Given the description of an element on the screen output the (x, y) to click on. 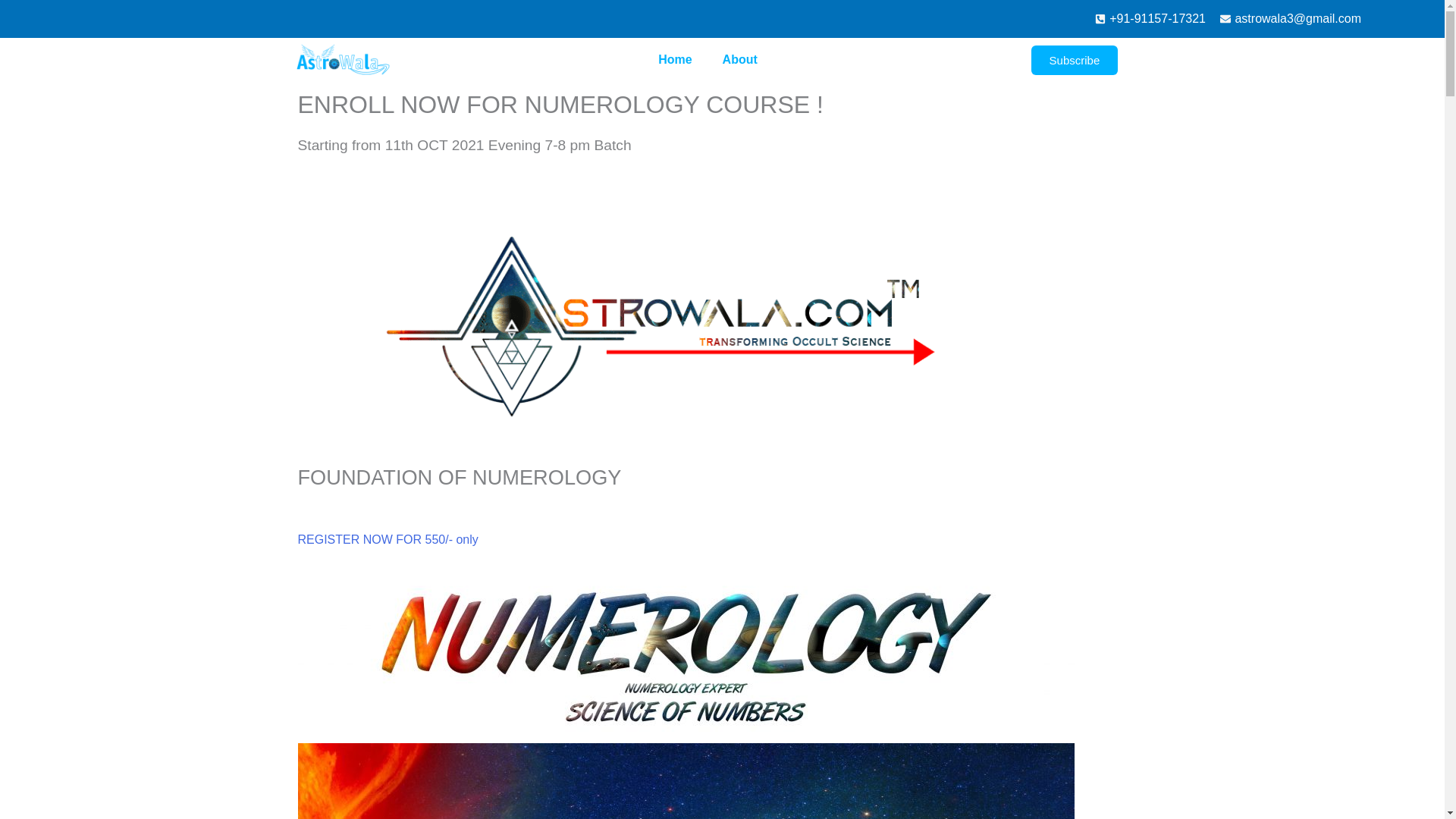
Home (674, 59)
About (740, 59)
Subscribe (1074, 60)
